Given the description of an element on the screen output the (x, y) to click on. 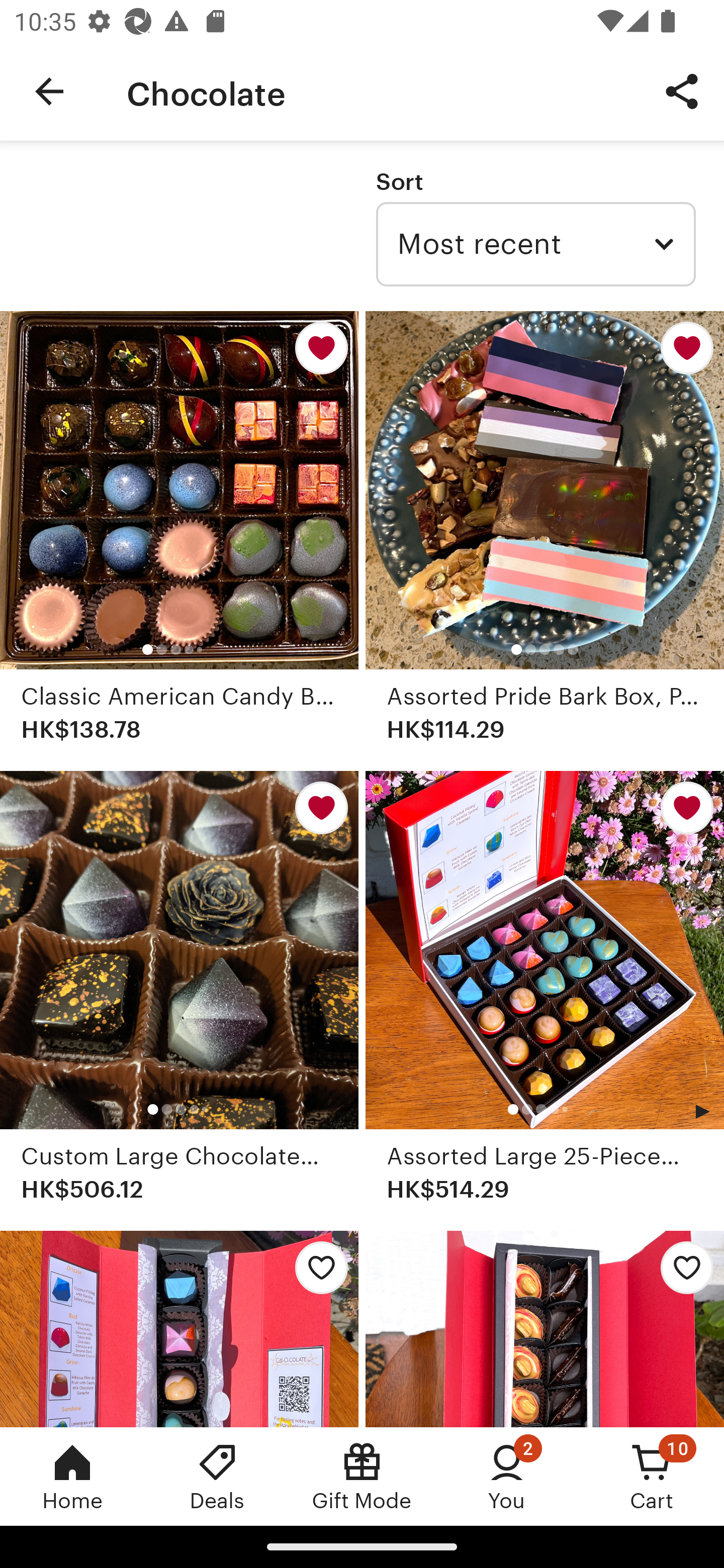
Navigate up (49, 91)
Share Button (681, 90)
Sort (399, 181)
Most recent (535, 244)
Add Custom Medium Chocolate Box to favorites (681, 1272)
Deals (216, 1475)
Gift Mode (361, 1475)
You, 2 new notifications You (506, 1475)
Cart, 10 new notifications Cart (651, 1475)
